Given the description of an element on the screen output the (x, y) to click on. 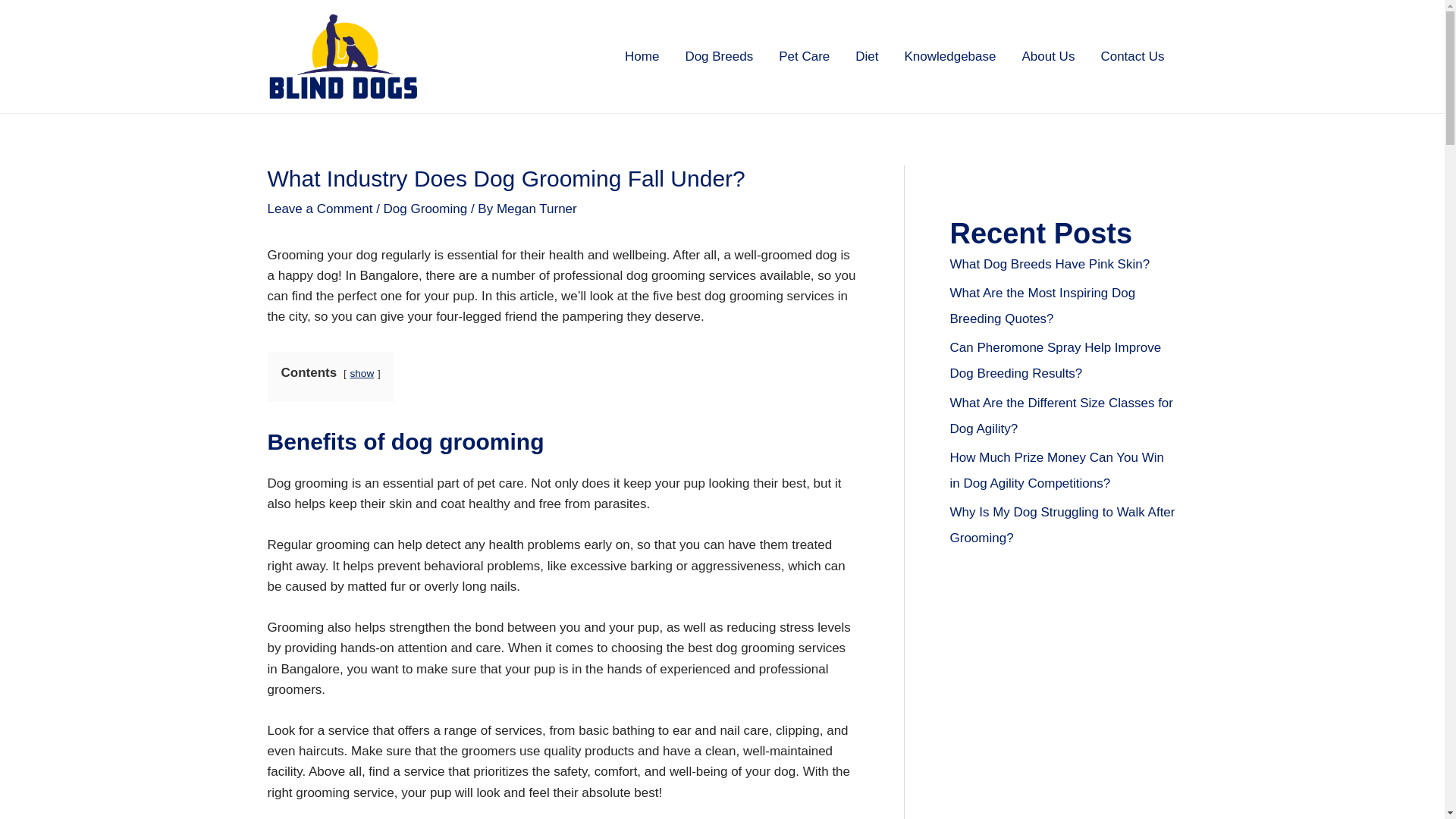
Pet Care (804, 56)
Leave a Comment (319, 208)
Contact Us (1131, 56)
Dog Breeds (718, 56)
Megan Turner (536, 208)
View all posts by Megan Turner (536, 208)
show (361, 373)
Home (641, 56)
About Us (1048, 56)
Dog Grooming (425, 208)
Knowledgebase (950, 56)
Diet (867, 56)
